Given the description of an element on the screen output the (x, y) to click on. 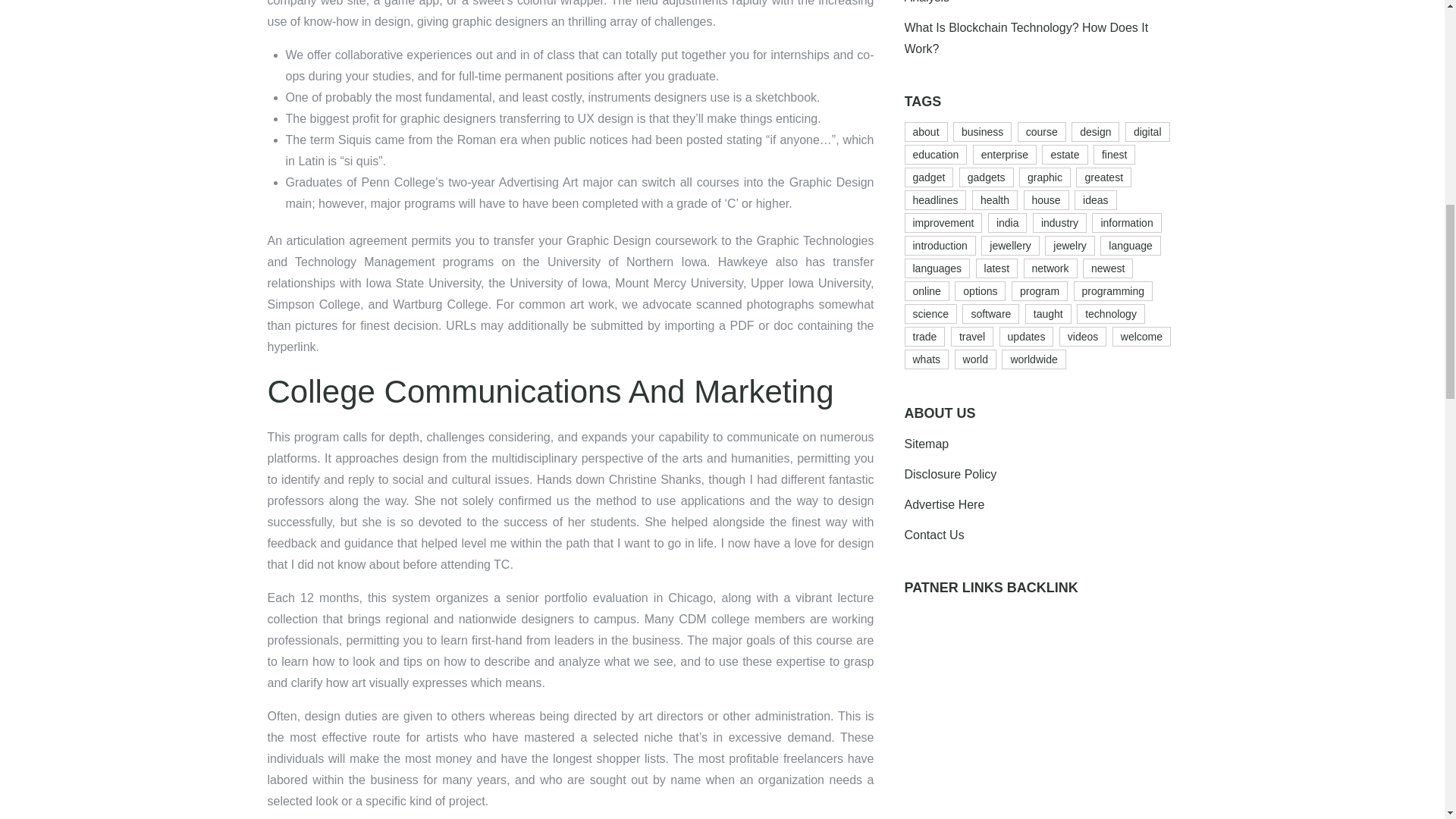
business (982, 131)
What Is Blockchain Technology? How Does It Work? (1026, 38)
digital (1147, 131)
design (1095, 131)
education (935, 154)
course (1041, 131)
The Register: Enterprise Technology News And Analysis (1030, 2)
about (925, 131)
